Given the description of an element on the screen output the (x, y) to click on. 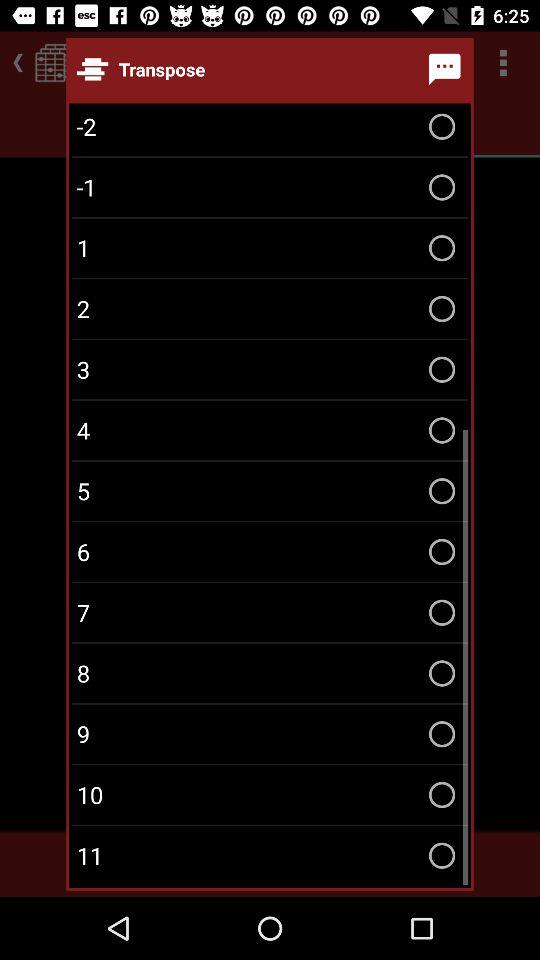
choose item above the 8 (269, 612)
